Given the description of an element on the screen output the (x, y) to click on. 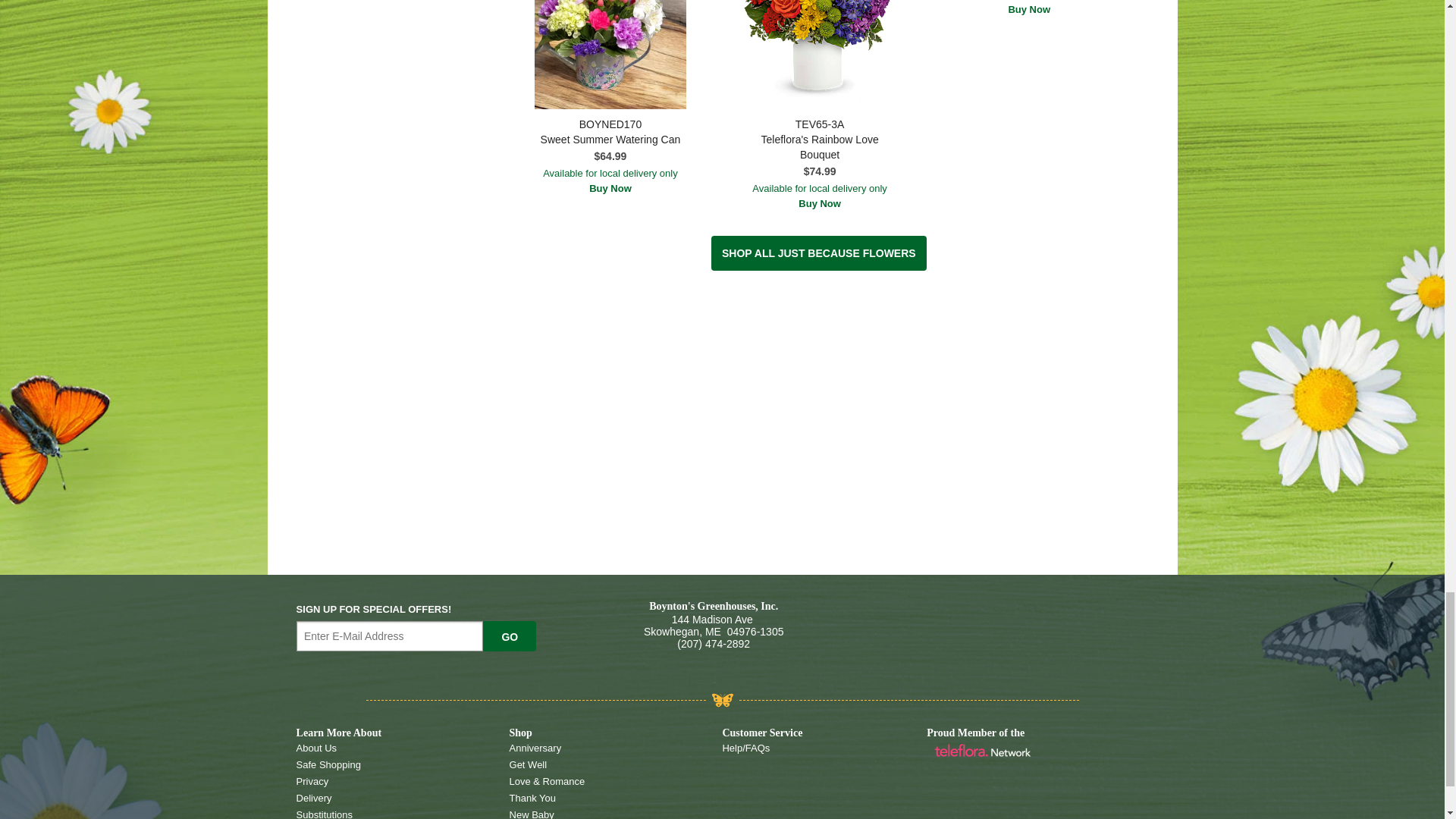
Go (509, 635)
go (509, 635)
Email Sign up (390, 635)
